Given the description of an element on the screen output the (x, y) to click on. 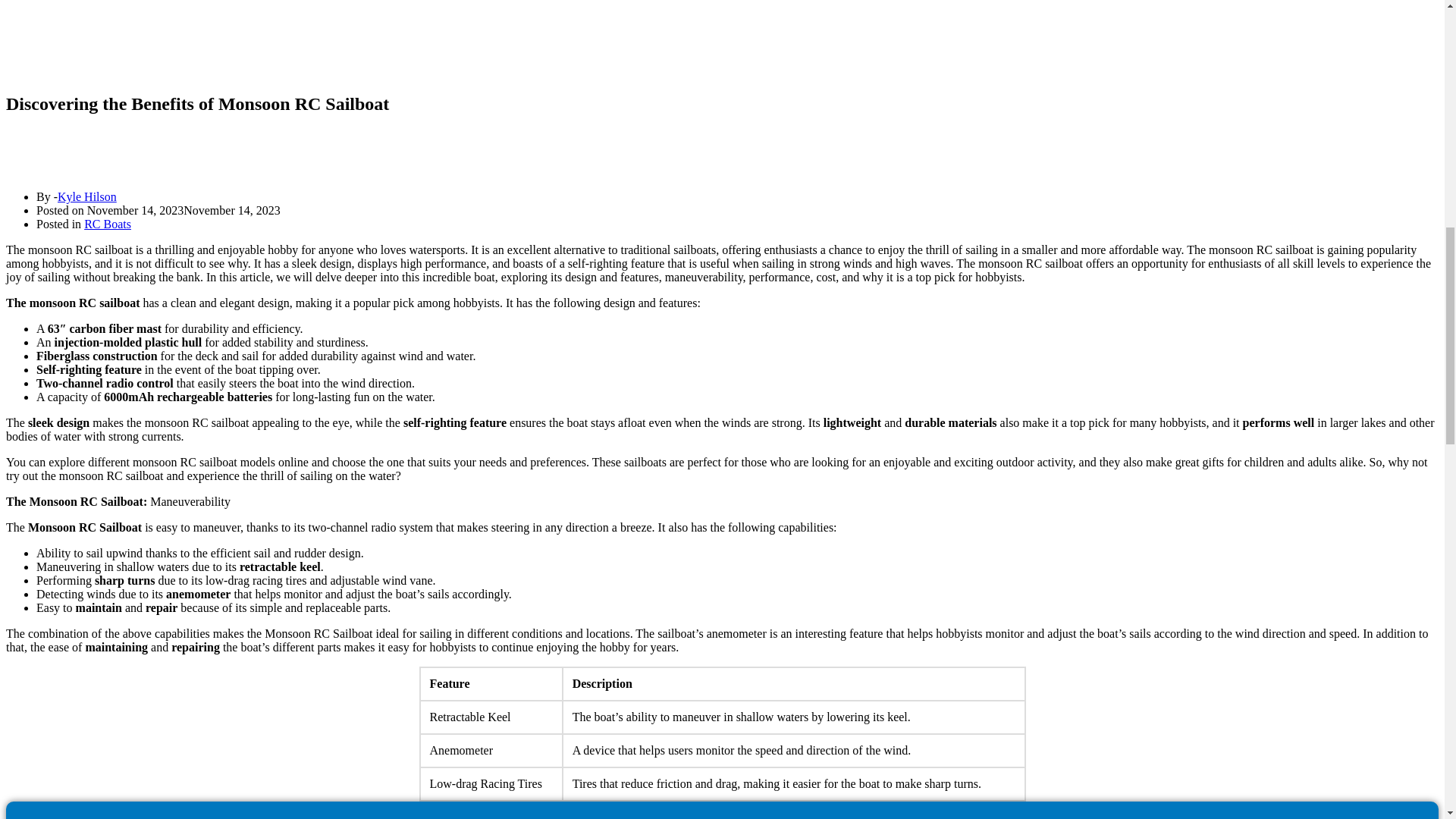
Kyle Hilson (87, 196)
RC Boats (107, 223)
